Given the description of an element on the screen output the (x, y) to click on. 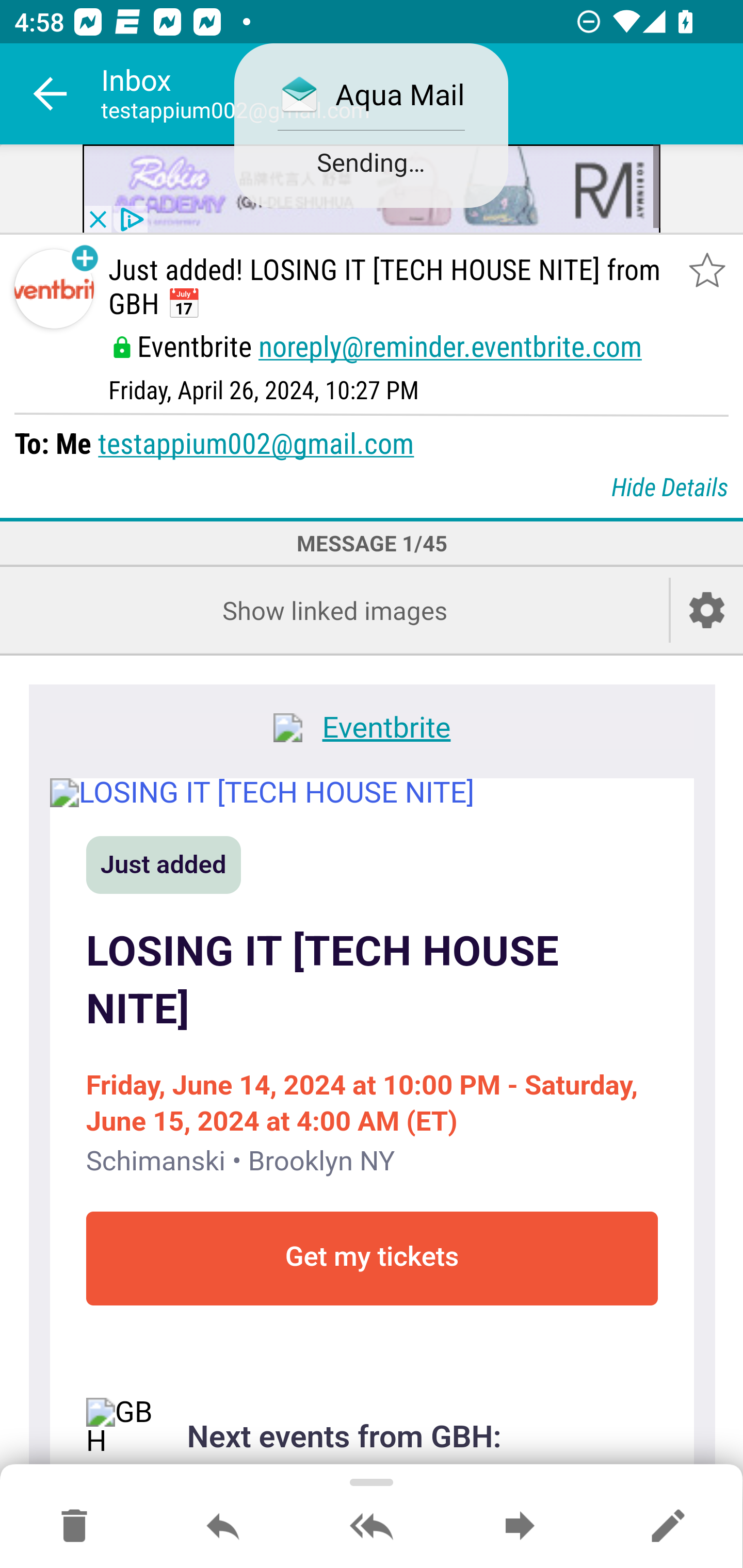
Navigate up (50, 93)
close_button (96, 220)
privacy_small (129, 220)
Sender contact button (53, 289)
Show linked images (334, 610)
Account setup (706, 610)
Eventbrite (371, 729)
LOSING IT [TECH HOUSE NITE] (371, 792)
LOSING IT [TECH HOUSE NITE] (371, 979)
Get my tickets (371, 1257)
Move to Deleted (74, 1527)
Reply (222, 1527)
Reply all (371, 1527)
Forward (519, 1527)
Reply as new (667, 1527)
